Given the description of an element on the screen output the (x, y) to click on. 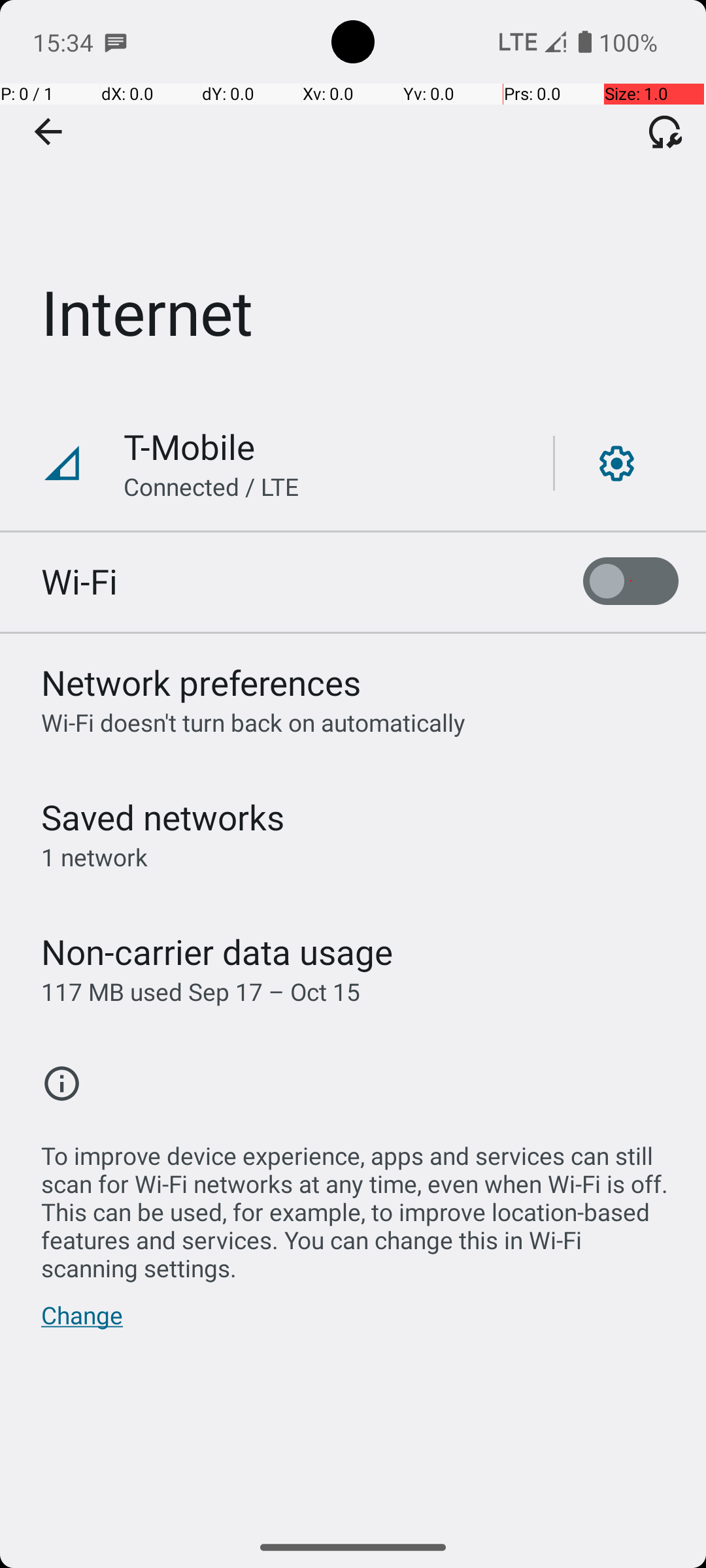
Fix connectivity Element type: android.widget.TextView (664, 131)
Connected / LTE Element type: android.widget.TextView (211, 486)
Wi-Fi Element type: android.widget.TextView (79, 580)
Network preferences Element type: android.widget.TextView (201, 682)
Wi‑Fi doesn't turn back on automatically Element type: android.widget.TextView (253, 721)
Saved networks Element type: android.widget.TextView (163, 816)
1 network Element type: android.widget.TextView (94, 856)
Non-carrier data usage Element type: android.widget.TextView (216, 951)
117 MB used Sep 17 – Oct 15 Element type: android.widget.TextView (200, 991)
To improve device experience, apps and services can still scan for Wi‑Fi networks at any time, even when Wi‑Fi is off. This can be used, for example, to improve location-based features and services. You can change this in Wi‑Fi scanning settings. Element type: android.widget.TextView (359, 1204)
Change Element type: android.widget.TextView (81, 1321)
